Given the description of an element on the screen output the (x, y) to click on. 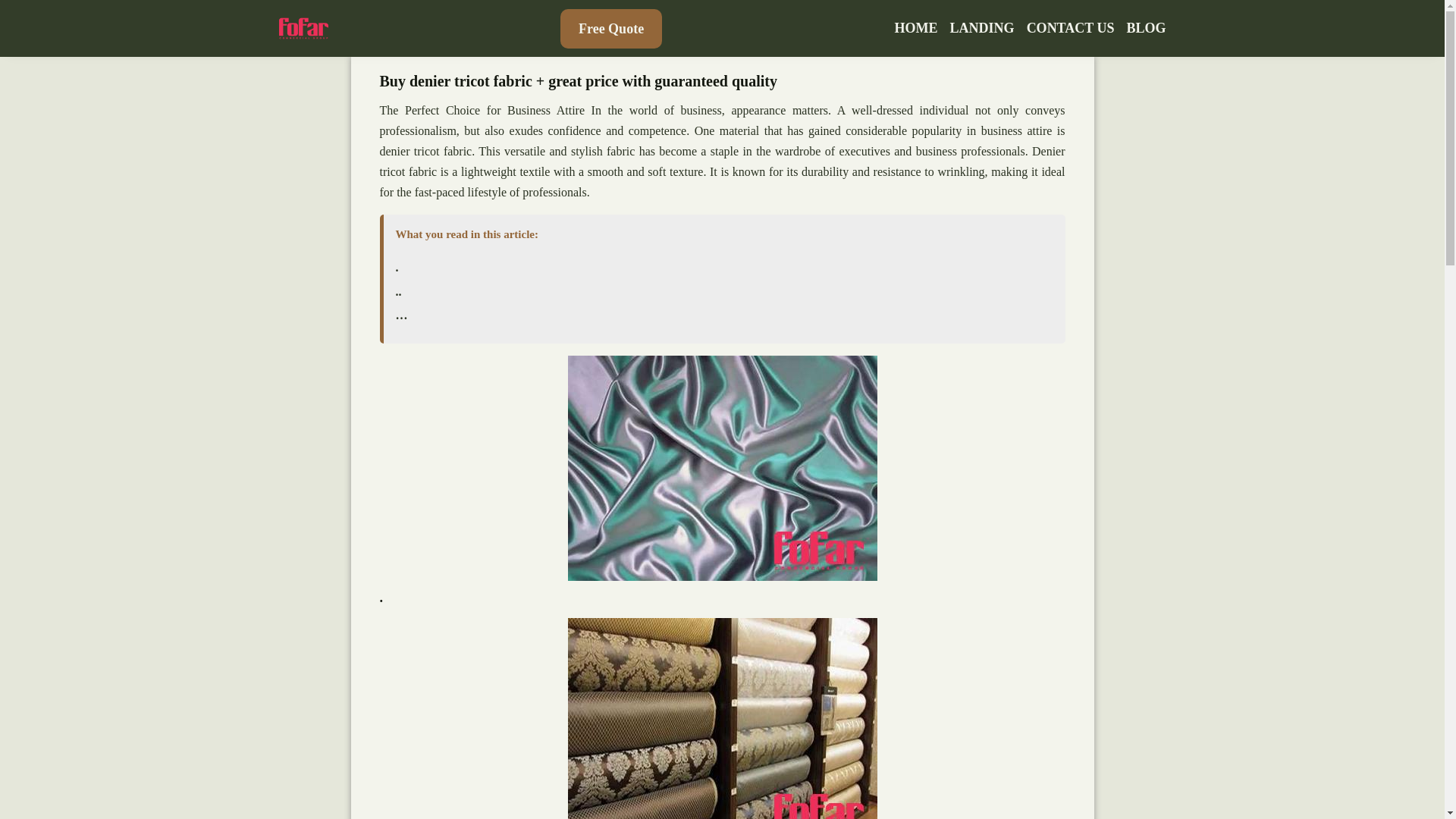
CONTACT US (1070, 28)
Free Quote (611, 28)
LANDING (982, 28)
HOME (916, 28)
BLOG (1145, 28)
